Given the description of an element on the screen output the (x, y) to click on. 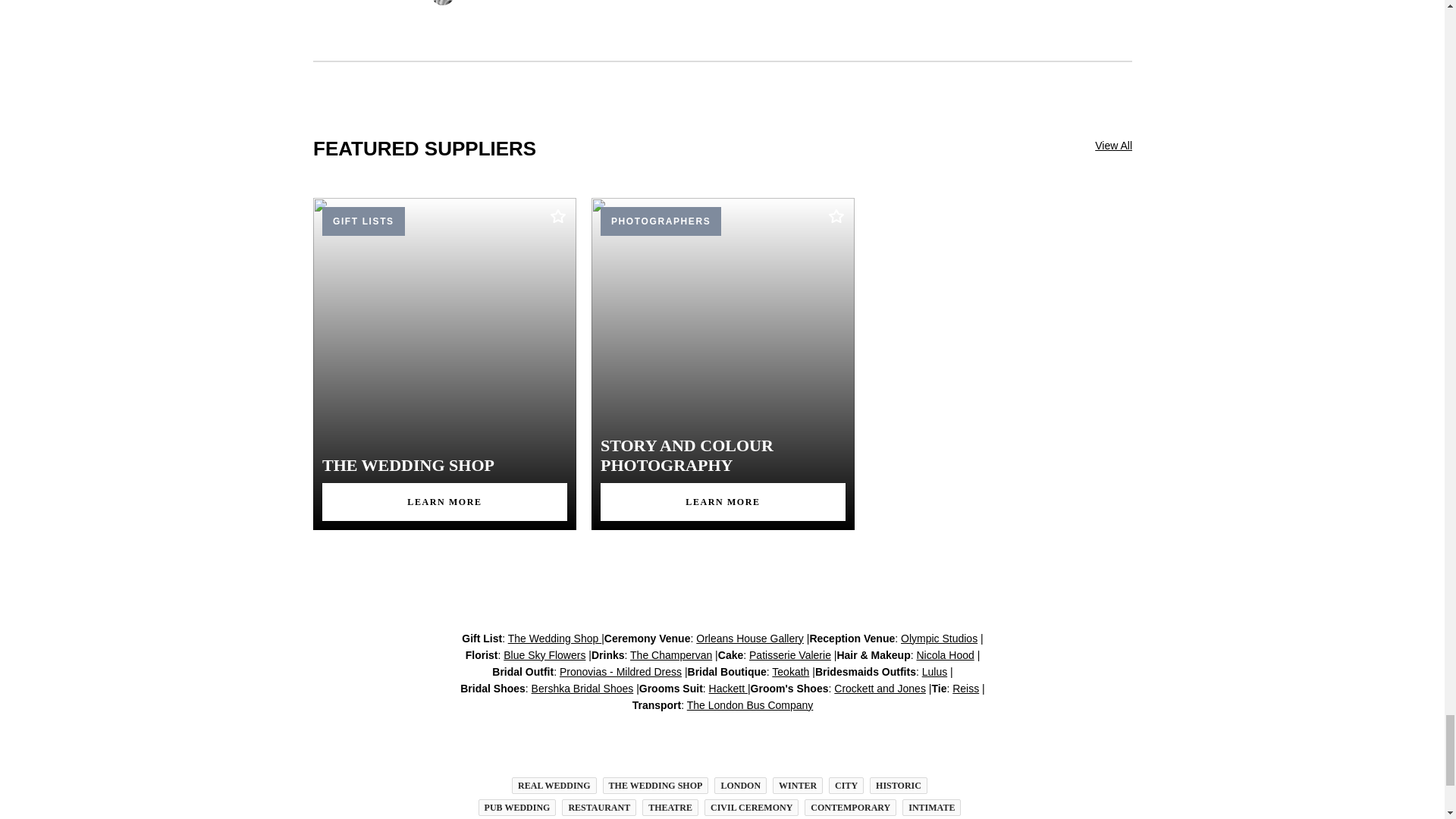
PHOTOGRAPHERS (659, 220)
GIFT LISTS (362, 220)
LEARN MORE (443, 501)
Olympic Studios (938, 638)
The Wedding Shop (553, 638)
View All (1097, 167)
Orleans House Gallery (749, 638)
LEARN MORE (722, 501)
